Given the description of an element on the screen output the (x, y) to click on. 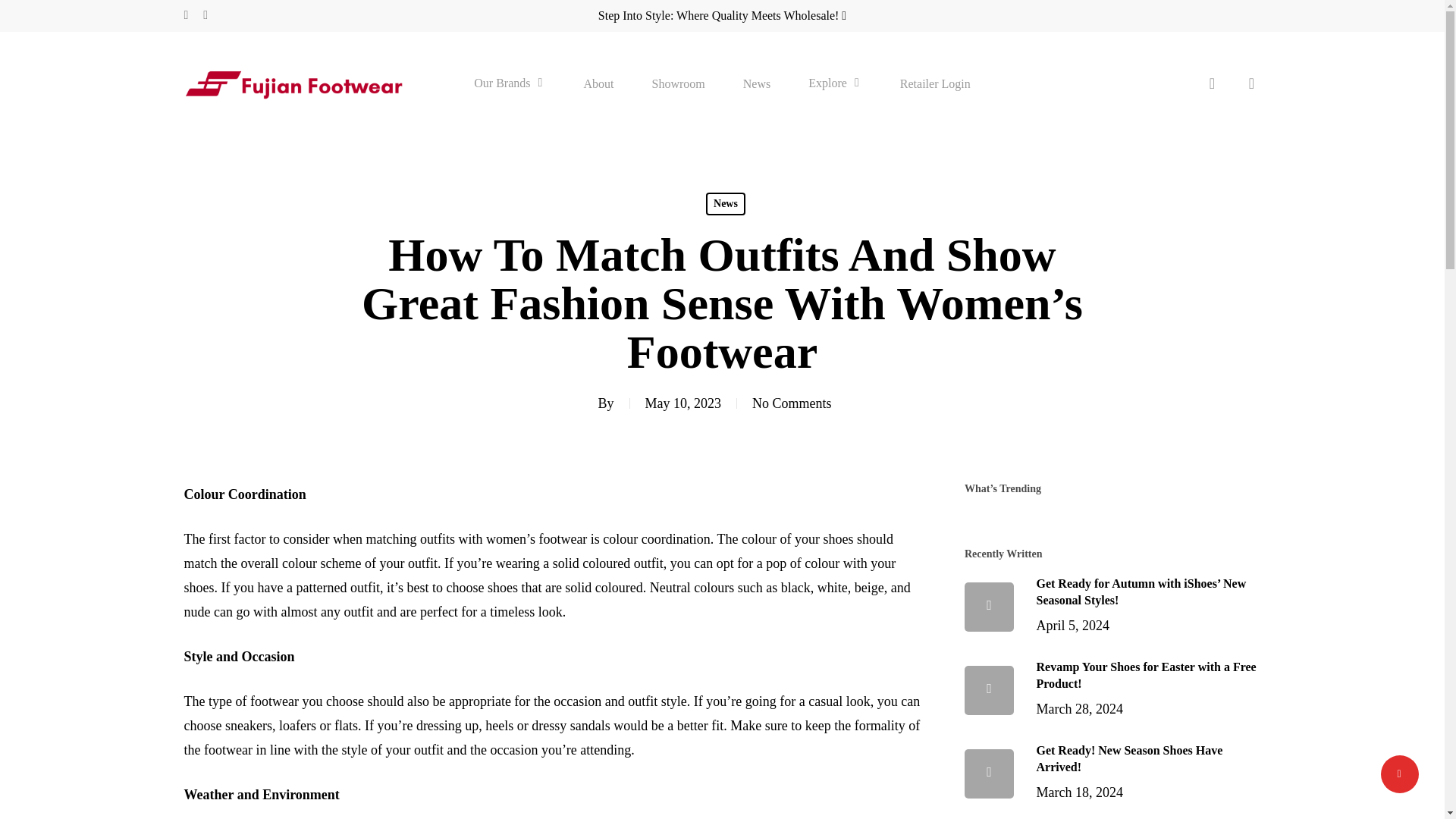
About (598, 82)
News (756, 82)
Showroom (678, 82)
Our Brands (509, 83)
Explore (834, 83)
